Given the description of an element on the screen output the (x, y) to click on. 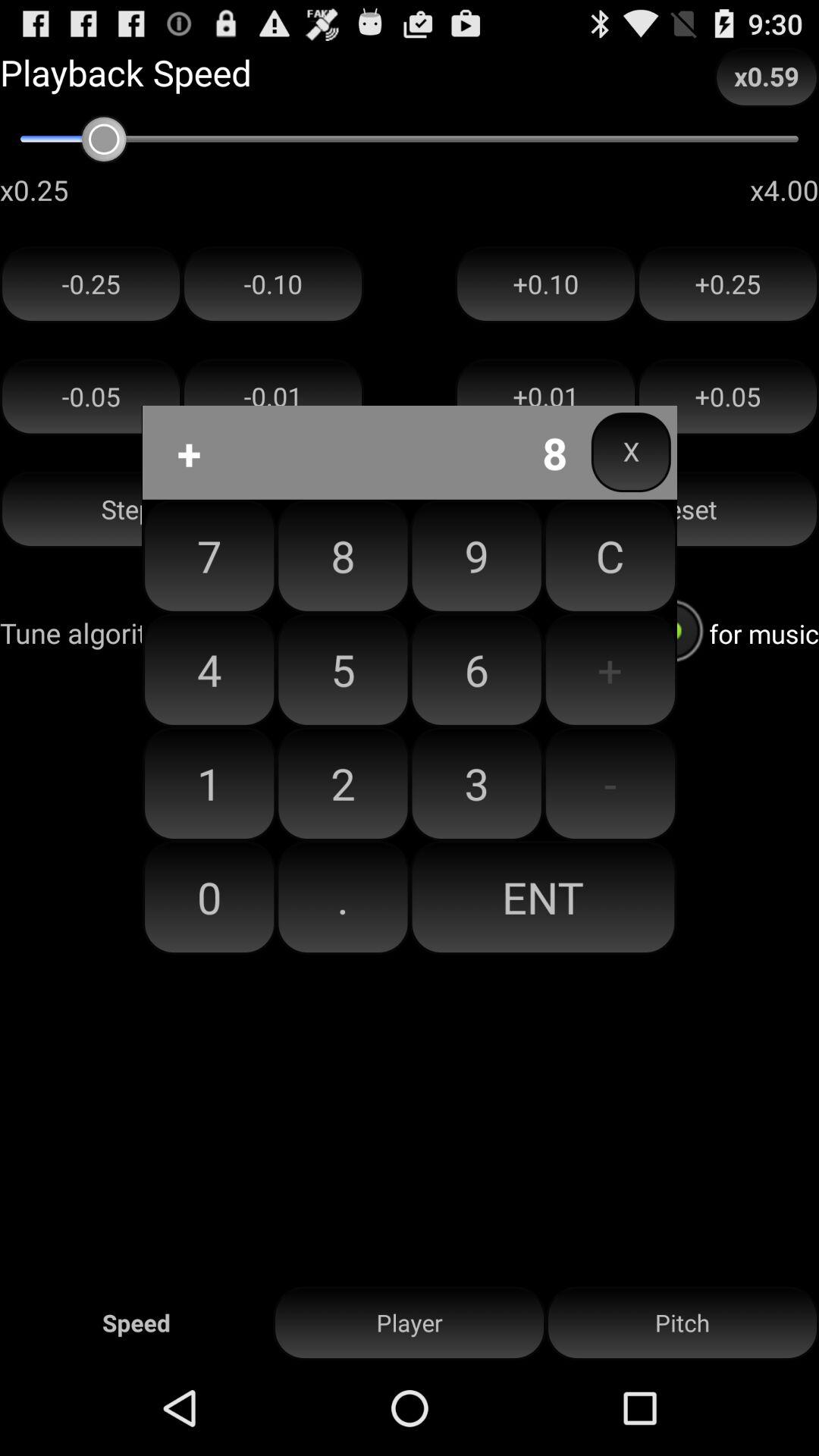
select the button above ent item (609, 783)
